Given the description of an element on the screen output the (x, y) to click on. 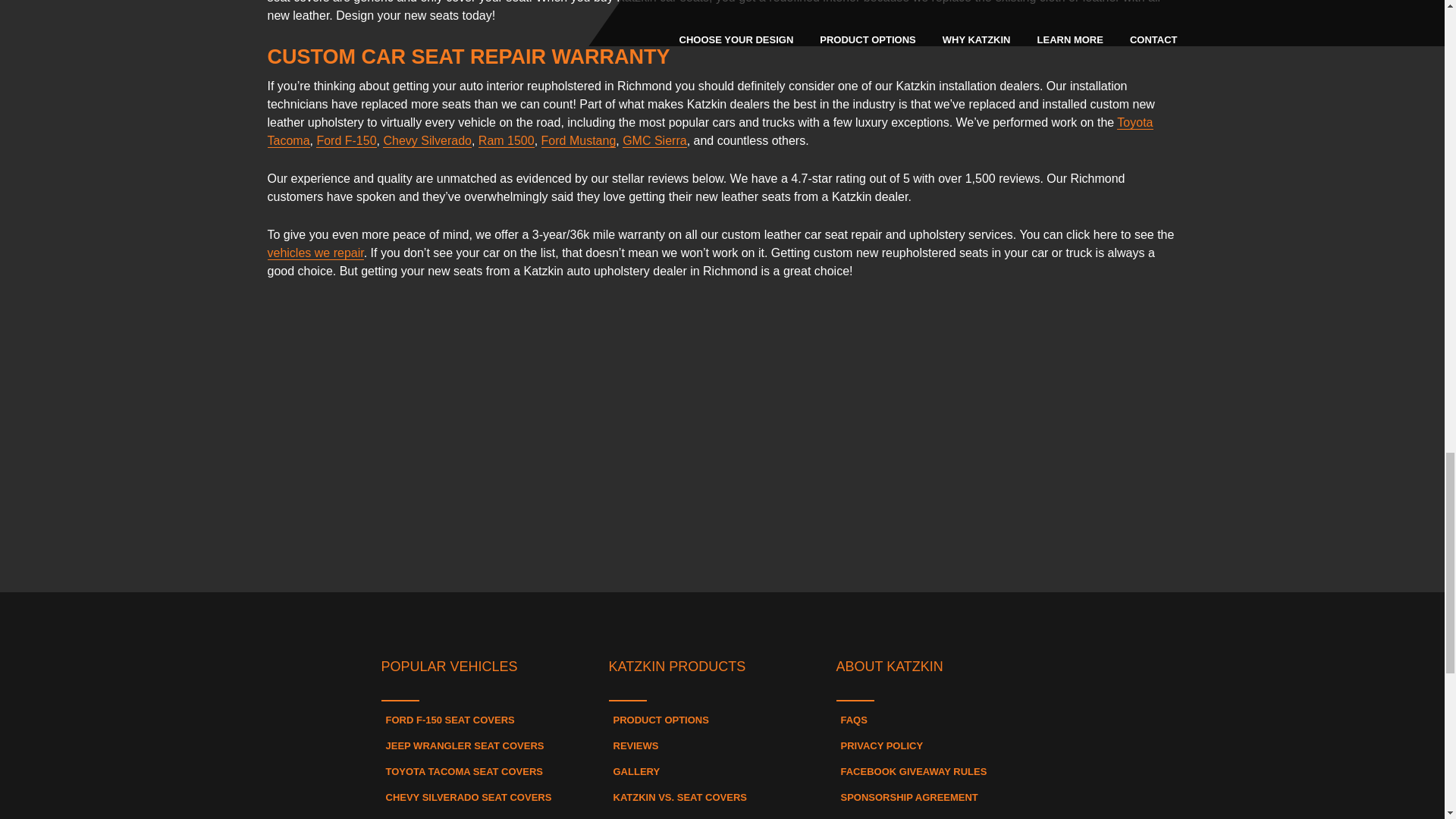
Instagram (721, 619)
Youtube (804, 619)
Facebook (638, 619)
